Given the description of an element on the screen output the (x, y) to click on. 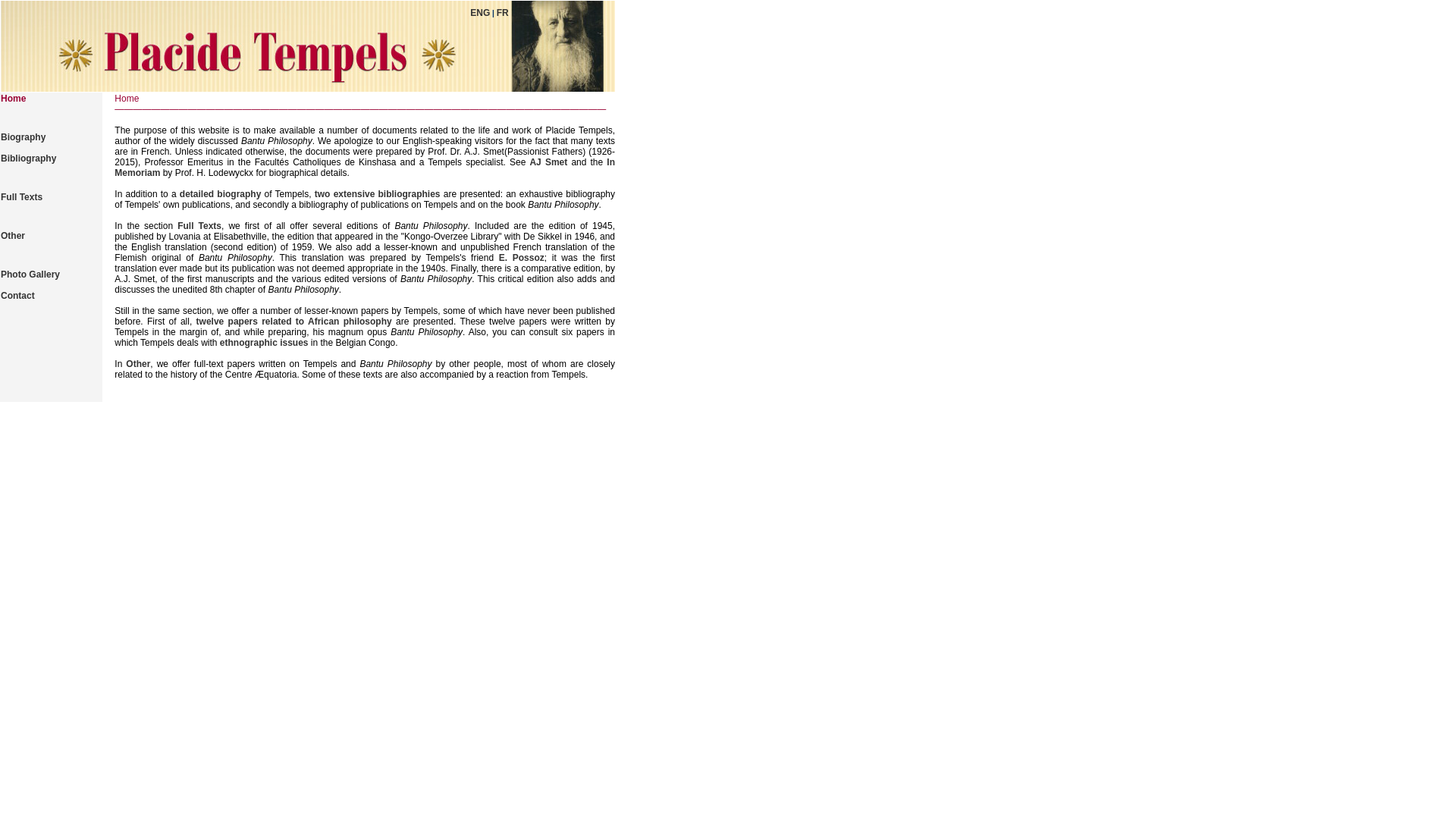
Other Element type: text (12, 235)
twelve papers related to African philosophy Element type: text (294, 321)
ethnographic issues Element type: text (263, 342)
Full Texts Element type: text (199, 225)
Contact Element type: text (17, 300)
Photo Gallery Element type: text (29, 274)
FR Element type: text (502, 12)
Bibliography Element type: text (28, 163)
Biography Element type: text (22, 136)
Full Texts Element type: text (21, 196)
AJ Smet Element type: text (550, 161)
ENG Element type: text (479, 12)
detailed biography Element type: text (220, 193)
In Memoriam Element type: text (364, 167)
two extensive bibliographies Element type: text (375, 193)
Other Element type: text (137, 363)
Home Element type: text (12, 98)
E. Possoz Element type: text (521, 257)
